Given the description of an element on the screen output the (x, y) to click on. 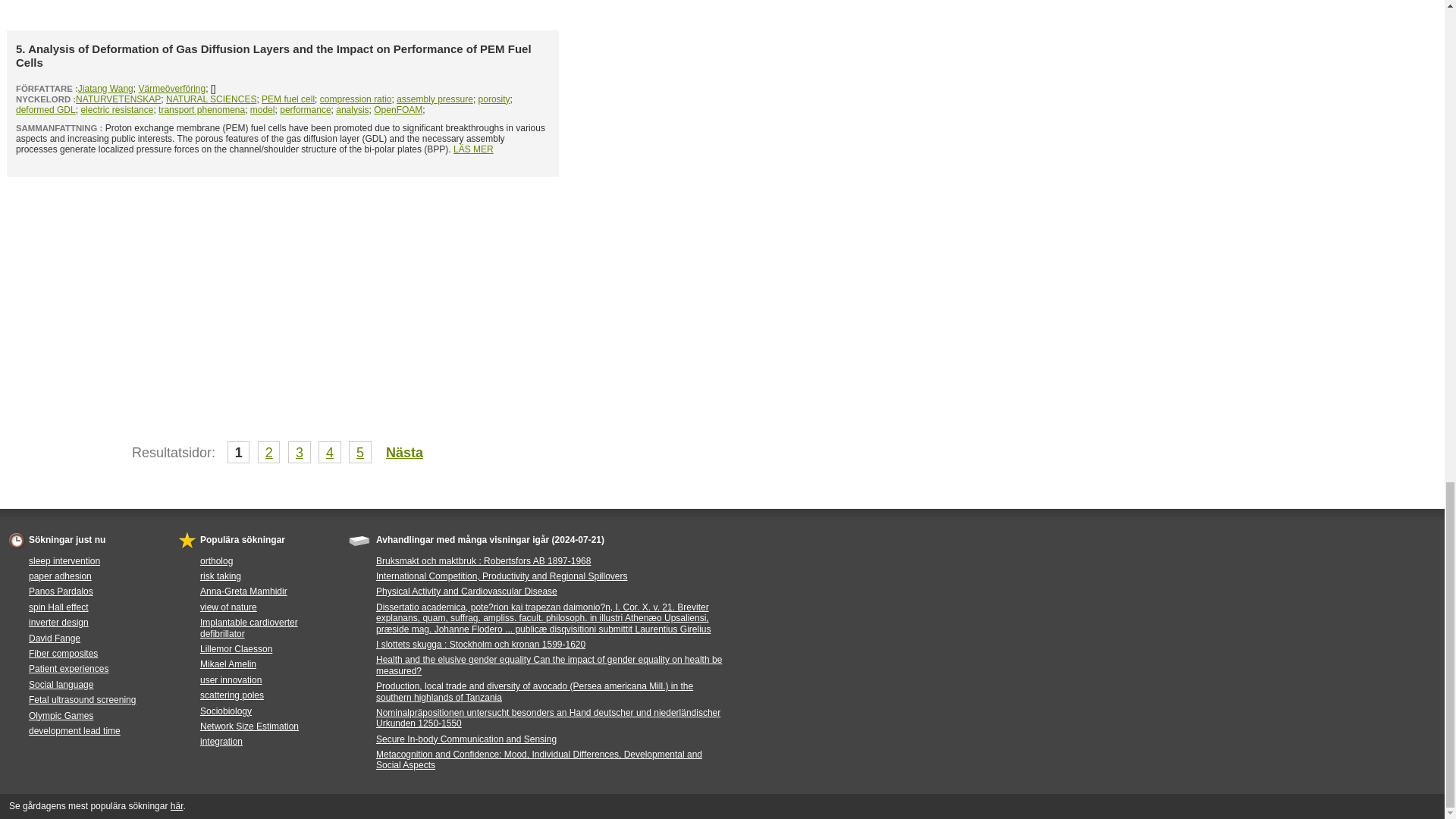
Advertisement (283, 11)
Advertisement (283, 290)
